Given the description of an element on the screen output the (x, y) to click on. 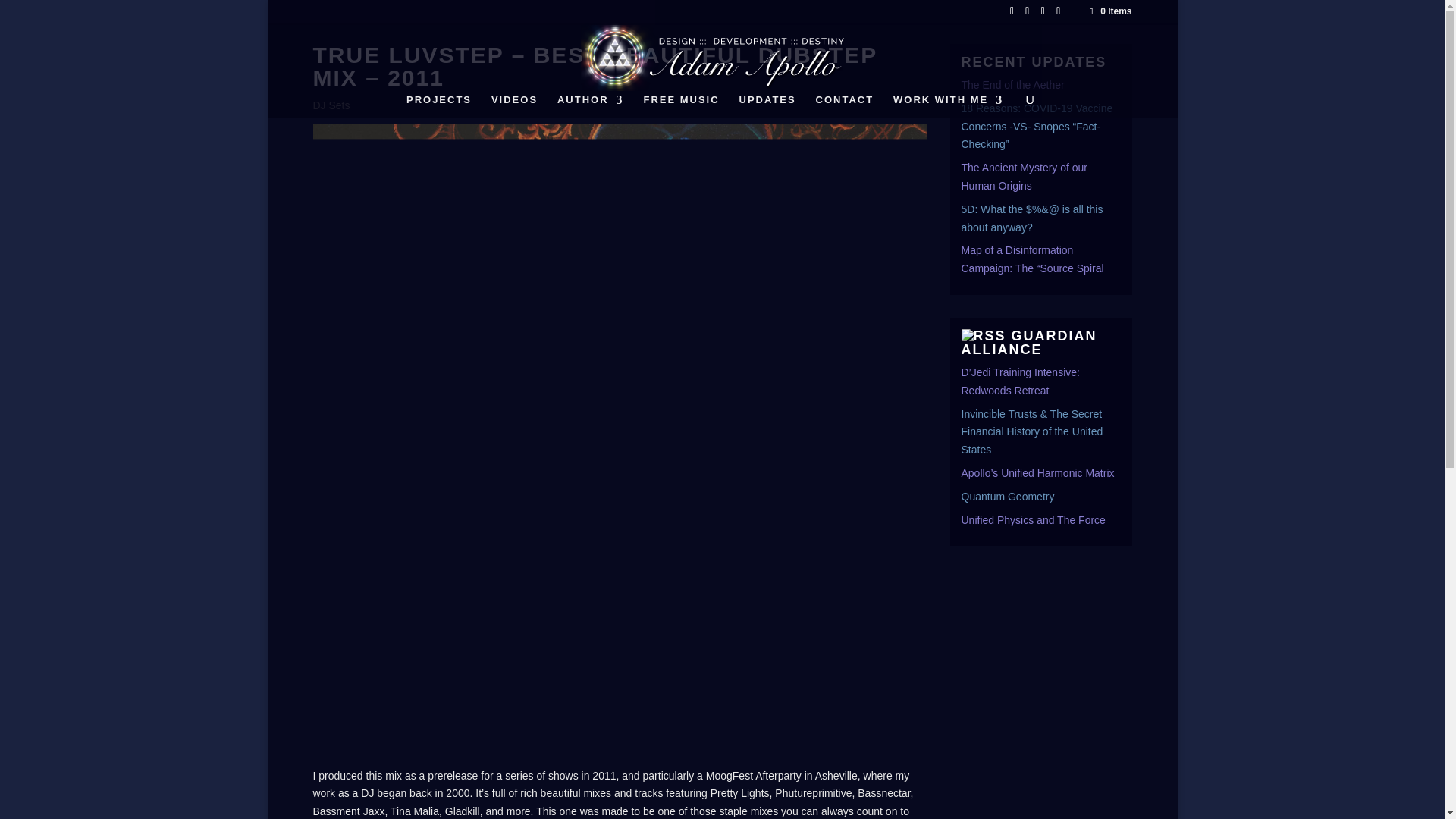
CONTACT (845, 106)
AUTHOR (590, 106)
The Ancient Mystery of our Human Origins (1023, 176)
FREE MUSIC (681, 106)
UPDATES (767, 106)
DJ Sets (331, 105)
PROJECTS (438, 106)
0 Items (1108, 10)
VIDEOS (514, 106)
WORK WITH ME (948, 106)
